Given the description of an element on the screen output the (x, y) to click on. 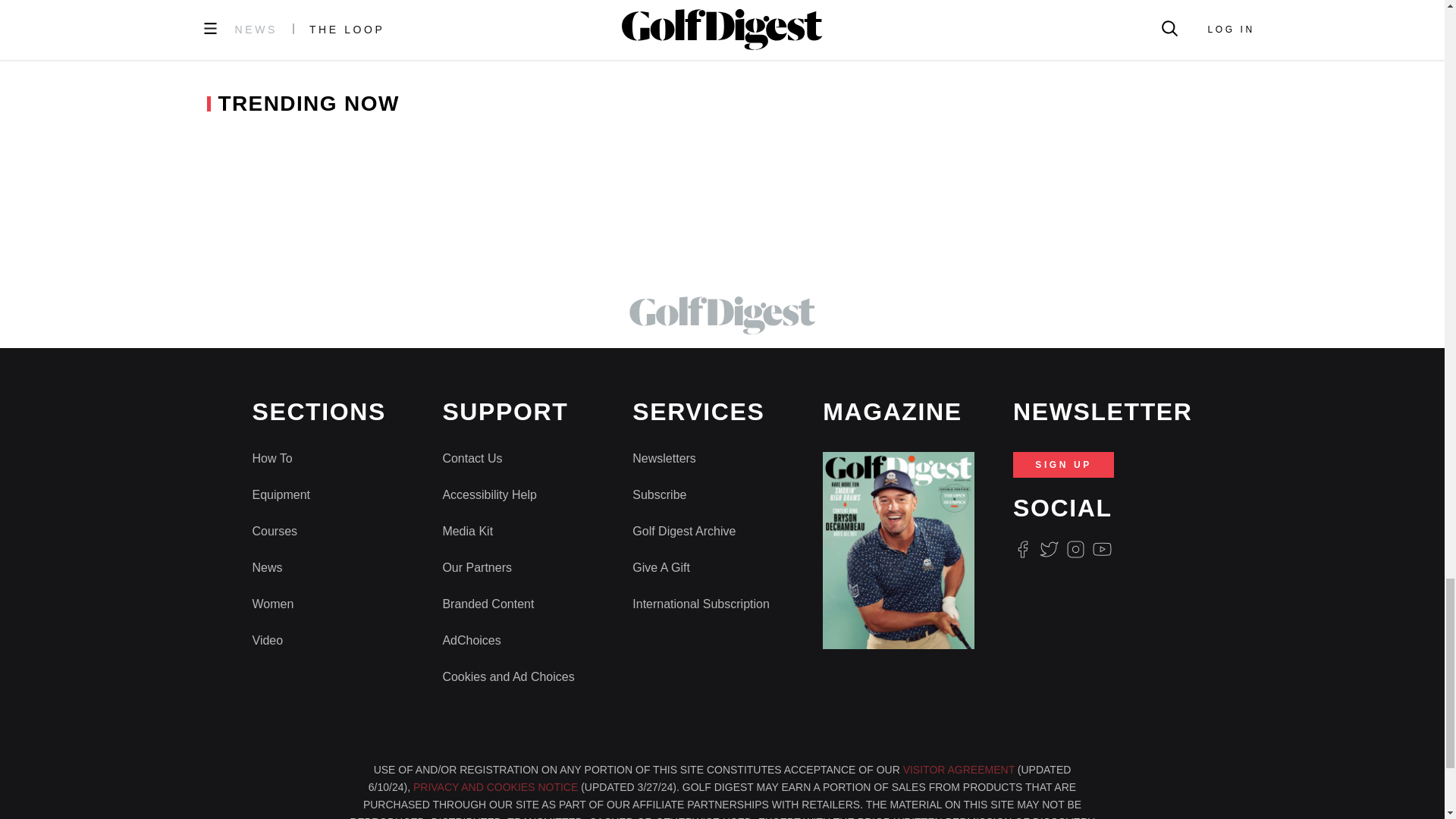
Twitter Logo (1048, 548)
Instagram Logo (1074, 548)
Youtube Icon (1102, 548)
Facebook Logo (1022, 548)
